Given the description of an element on the screen output the (x, y) to click on. 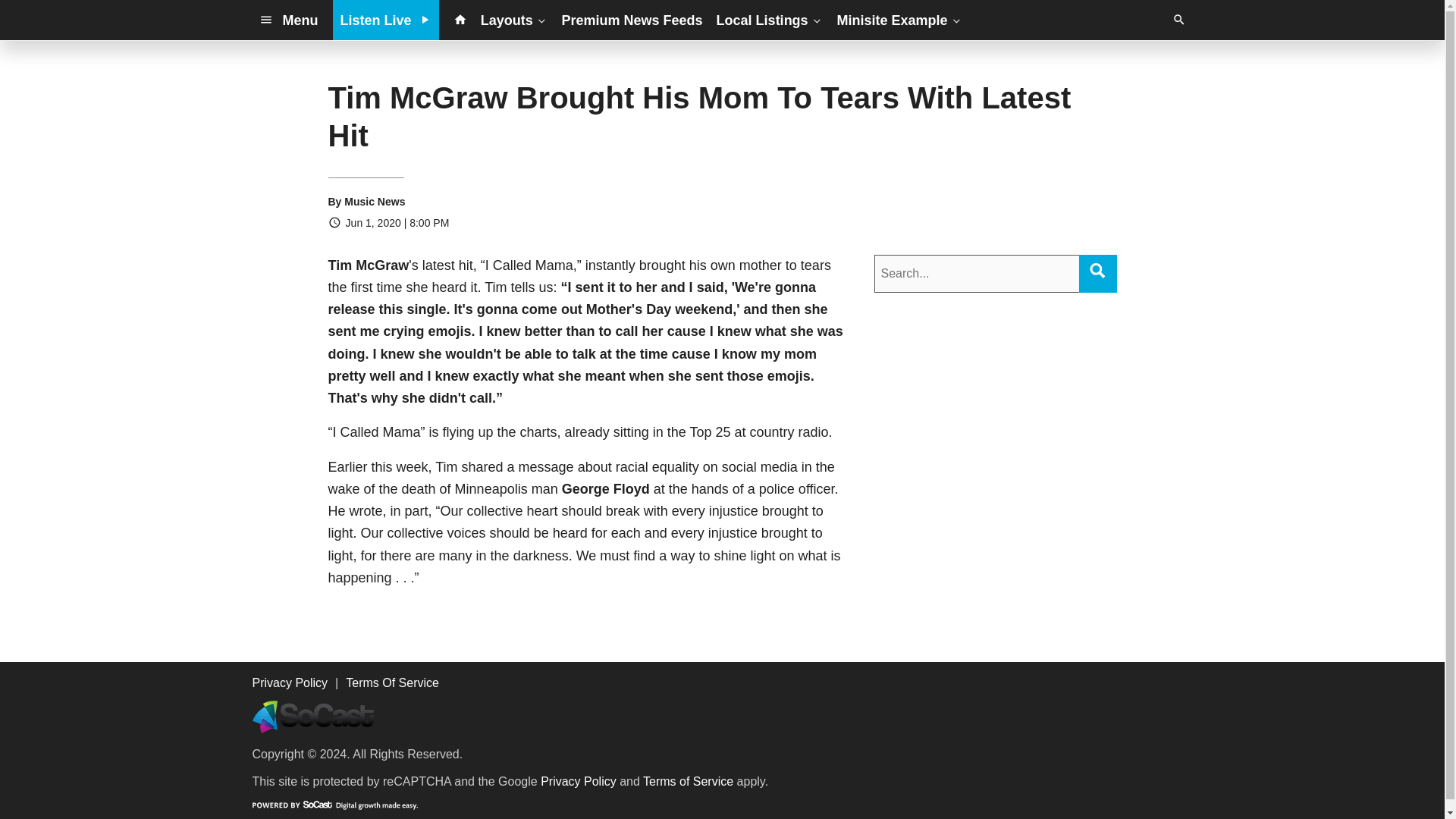
Local Listings (769, 19)
Premium News Feeds (632, 19)
Listen Live (386, 20)
Search (1097, 269)
Layouts (514, 19)
Powered By SoCast (333, 804)
Menu (287, 19)
Minisite Example (899, 19)
